Given the description of an element on the screen output the (x, y) to click on. 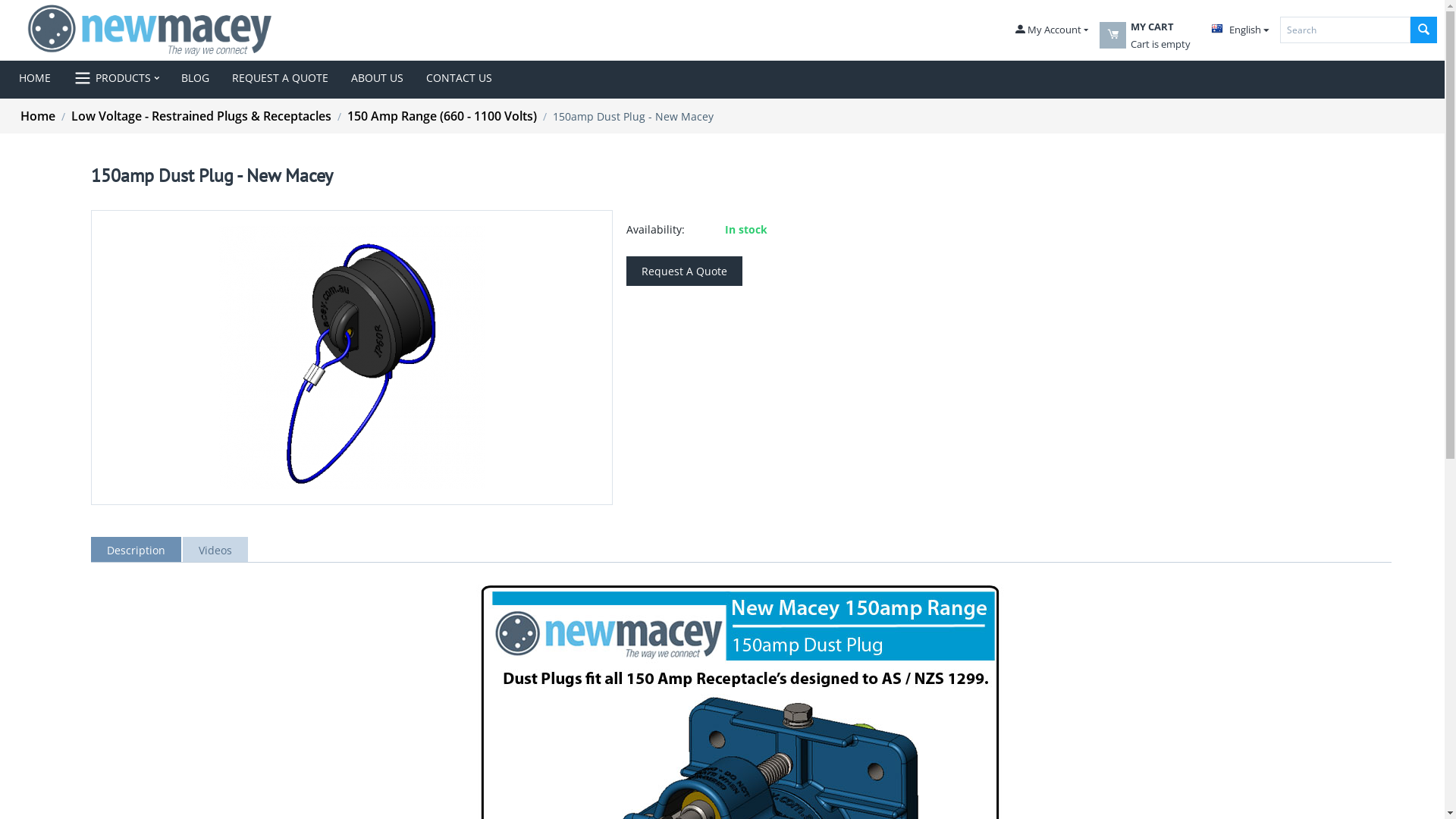
Request A Quote Element type: text (684, 270)
Home Element type: text (37, 115)
Search Element type: hover (1423, 29)
CONTACT US Element type: text (458, 77)
ABOUT US Element type: text (376, 77)
150amp Dust Plug - New Macey Element type: hover (351, 357)
Low Voltage - Restrained Plugs & Receptacles Element type: text (200, 115)
150 Amp Range (660 - 1100 Volts) Element type: text (441, 115)
Description Element type: text (137, 548)
NewMacey Pty Ltd Element type: hover (149, 29)
HOME Element type: text (40, 77)
English Element type: text (1240, 30)
150amp Dust Plug - New Macey Element type: hover (351, 357)
Videos Element type: text (216, 548)
REQUEST A QUOTE Element type: text (279, 77)
PRODUCTS Element type: text (115, 77)
My Account Element type: text (1051, 29)
MY CART
Cart is empty Element type: text (1158, 43)
NewMacey Pty Ltd Element type: hover (149, 30)
Search Element type: hover (1345, 29)
BLOG Element type: text (194, 77)
